Given the description of an element on the screen output the (x, y) to click on. 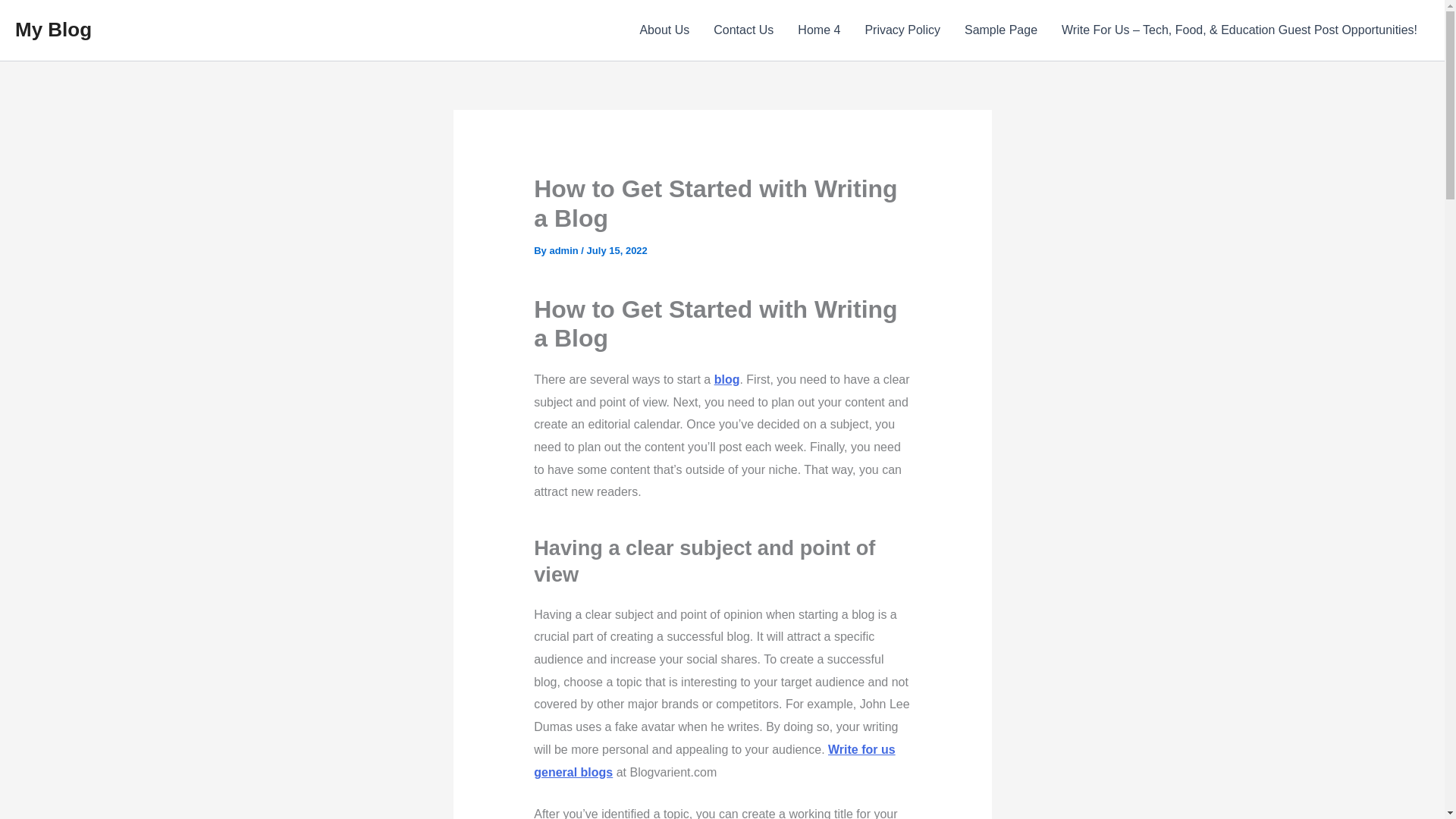
Sample Page (1000, 30)
My Blog (52, 29)
View all posts by admin (564, 250)
Contact Us (743, 30)
About Us (664, 30)
admin (564, 250)
Privacy Policy (901, 30)
Home 4 (818, 30)
Write for us general blogs (714, 760)
blog (726, 379)
